Given the description of an element on the screen output the (x, y) to click on. 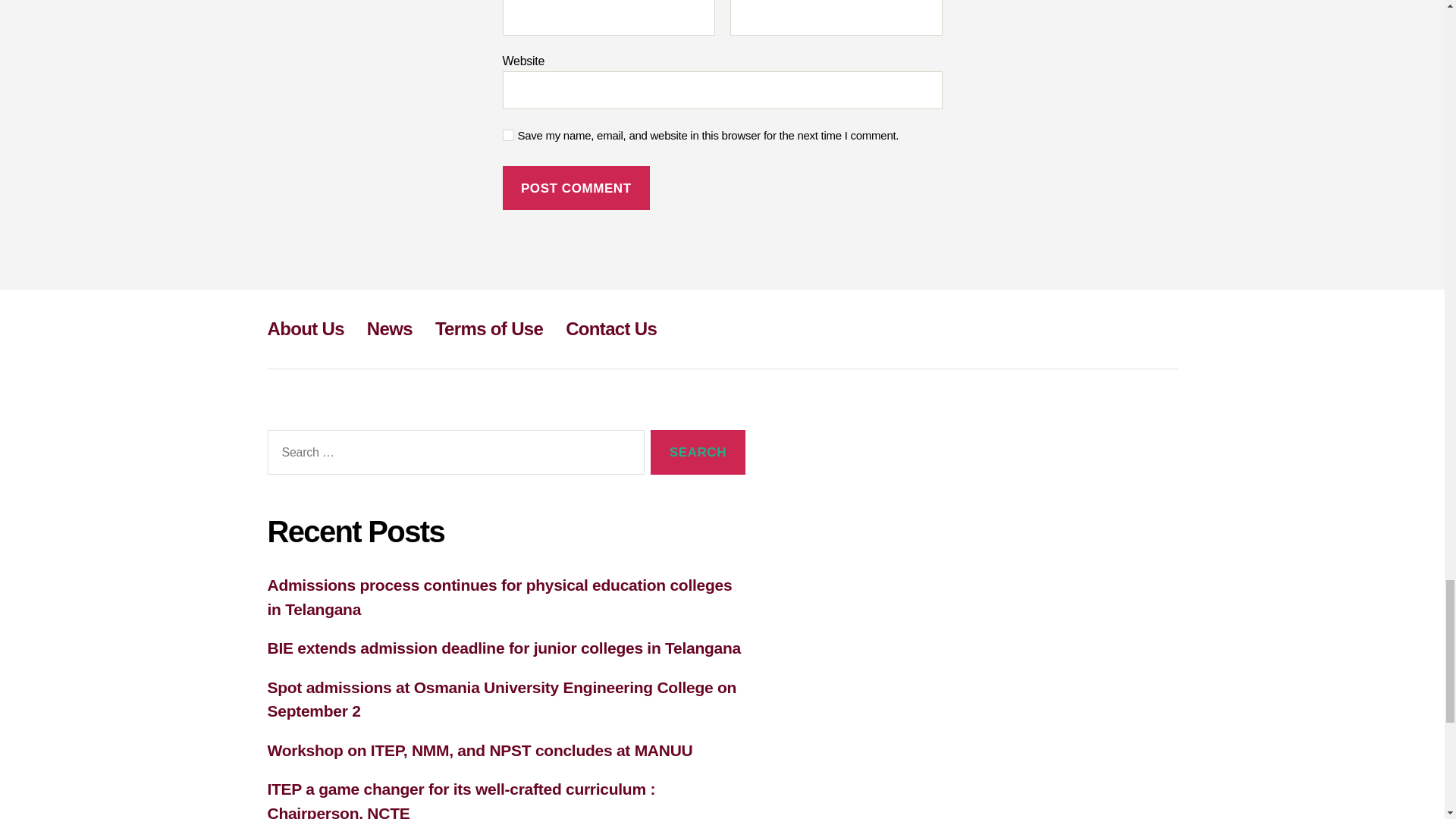
Post Comment (575, 188)
Search (697, 452)
Search (697, 452)
Contact Us (611, 328)
Post Comment (575, 188)
Search (697, 452)
About Us (304, 328)
News (389, 328)
yes (507, 134)
Terms of Use (489, 328)
